Given the description of an element on the screen output the (x, y) to click on. 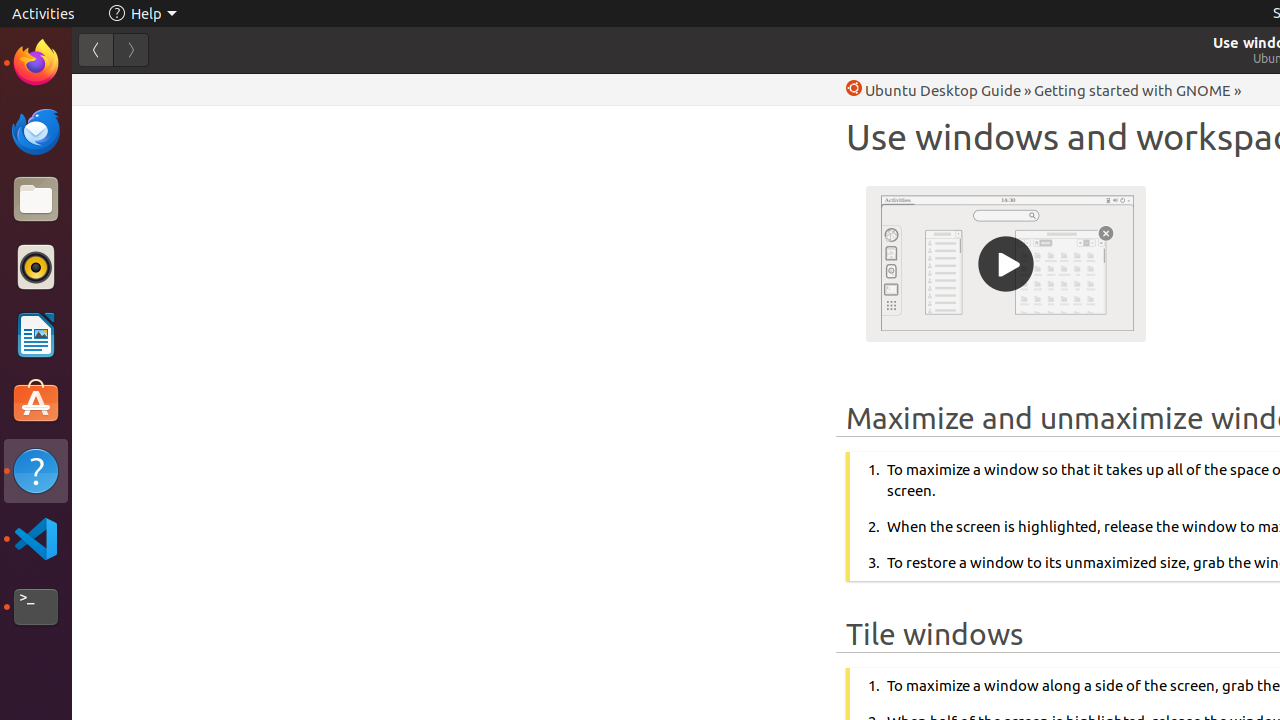
IsaHelpMain.desktop Element type: label (133, 300)
Trash Element type: label (133, 191)
Firefox Web Browser Element type: push-button (36, 63)
